Given the description of an element on the screen output the (x, y) to click on. 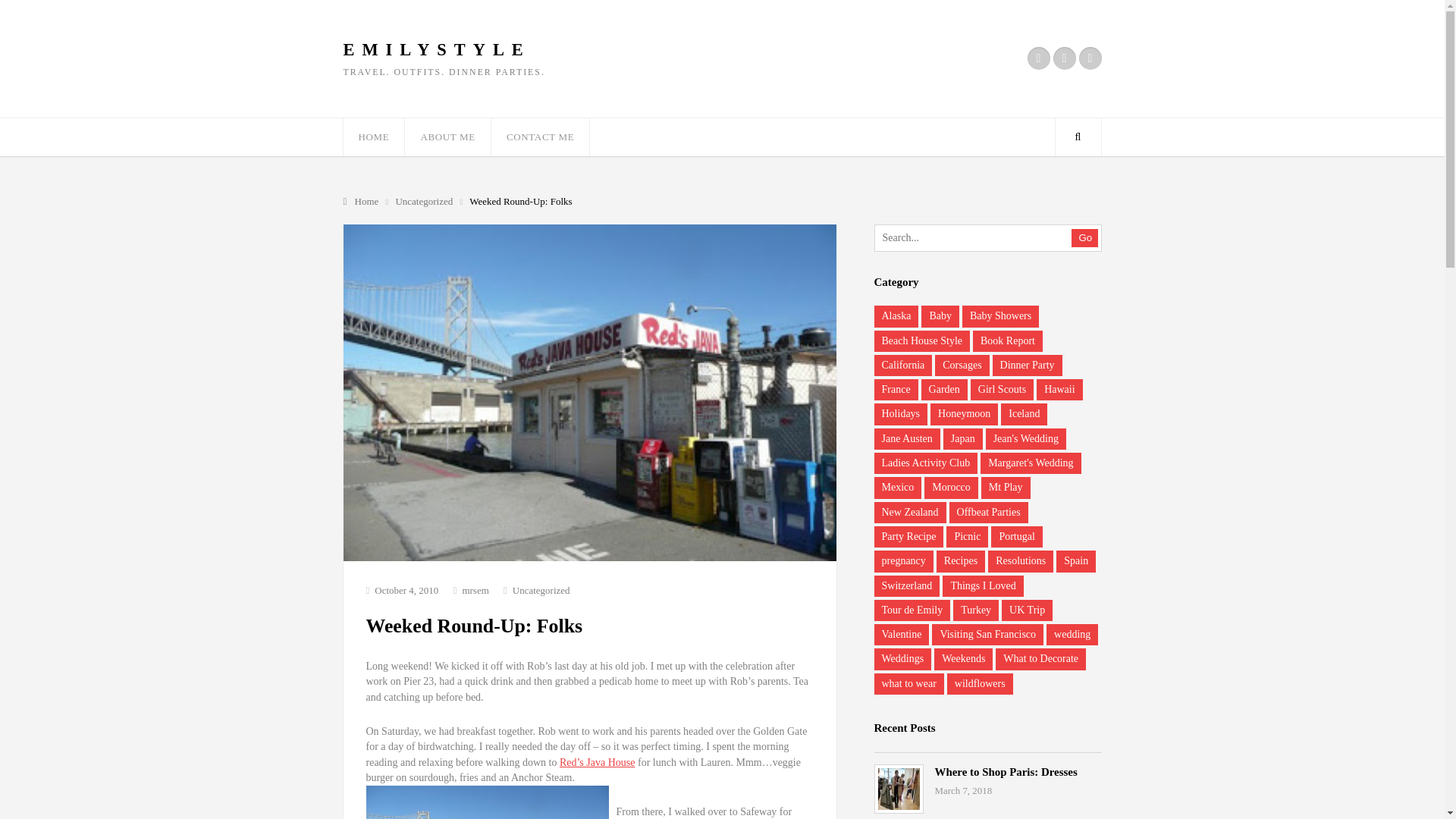
Instagram (1063, 57)
Uncategorized (424, 201)
Uncategorized (424, 201)
ABOUT ME (447, 136)
mrsem (474, 590)
EMILYSTYLE (435, 49)
Flickr (1037, 57)
HOME (373, 136)
EmilyStyle (361, 201)
Home (361, 201)
CONTACT ME (540, 136)
Posts by mrsem (474, 590)
EmilyStyle (435, 49)
Uncategorized (541, 590)
Pinterest (1089, 57)
